Given the description of an element on the screen output the (x, y) to click on. 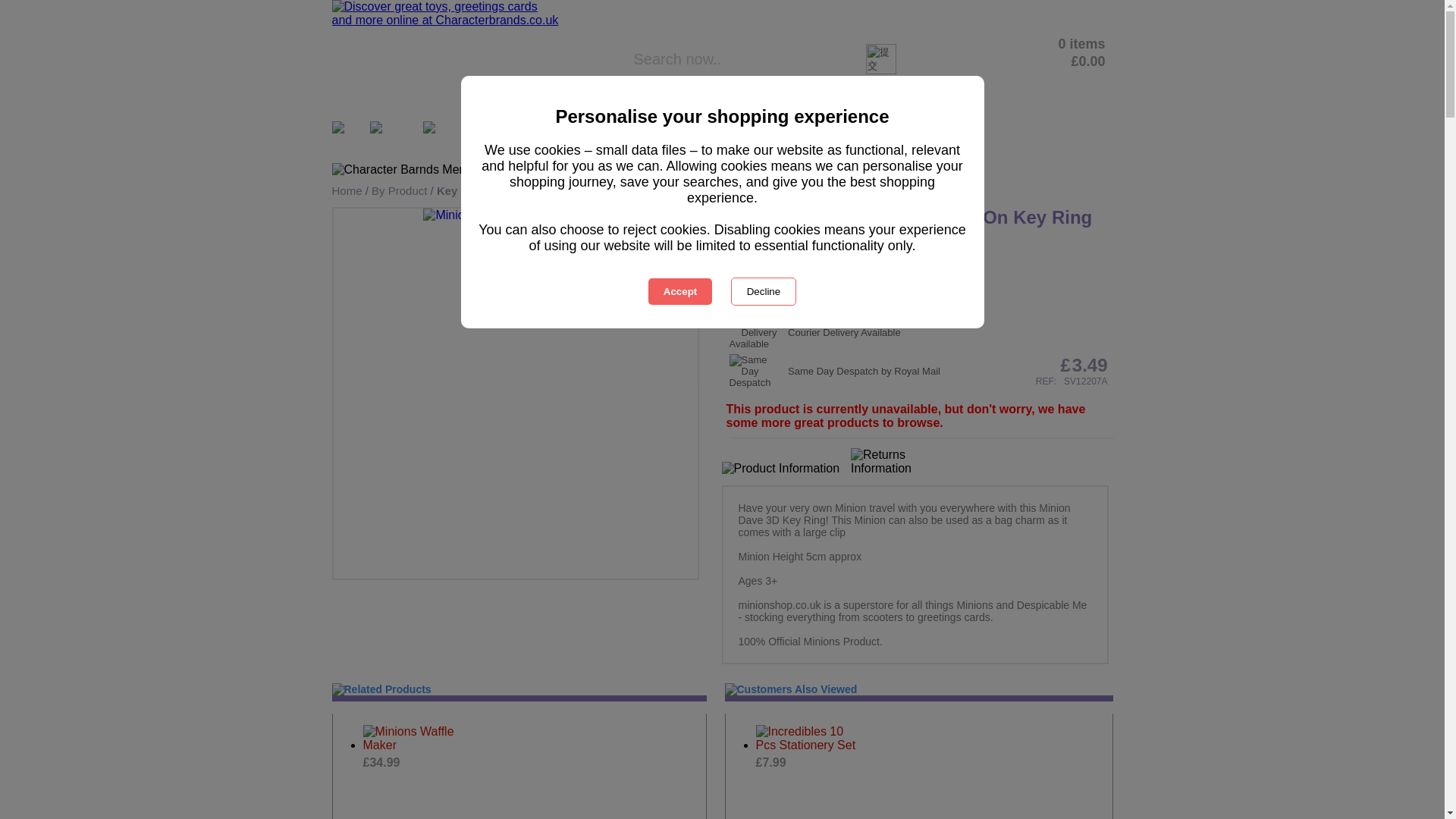
Decline (763, 291)
Accept (679, 291)
Minions Waffle Maker (416, 738)
Accept (679, 291)
Search now.. (747, 59)
Decline (763, 291)
